Given the description of an element on the screen output the (x, y) to click on. 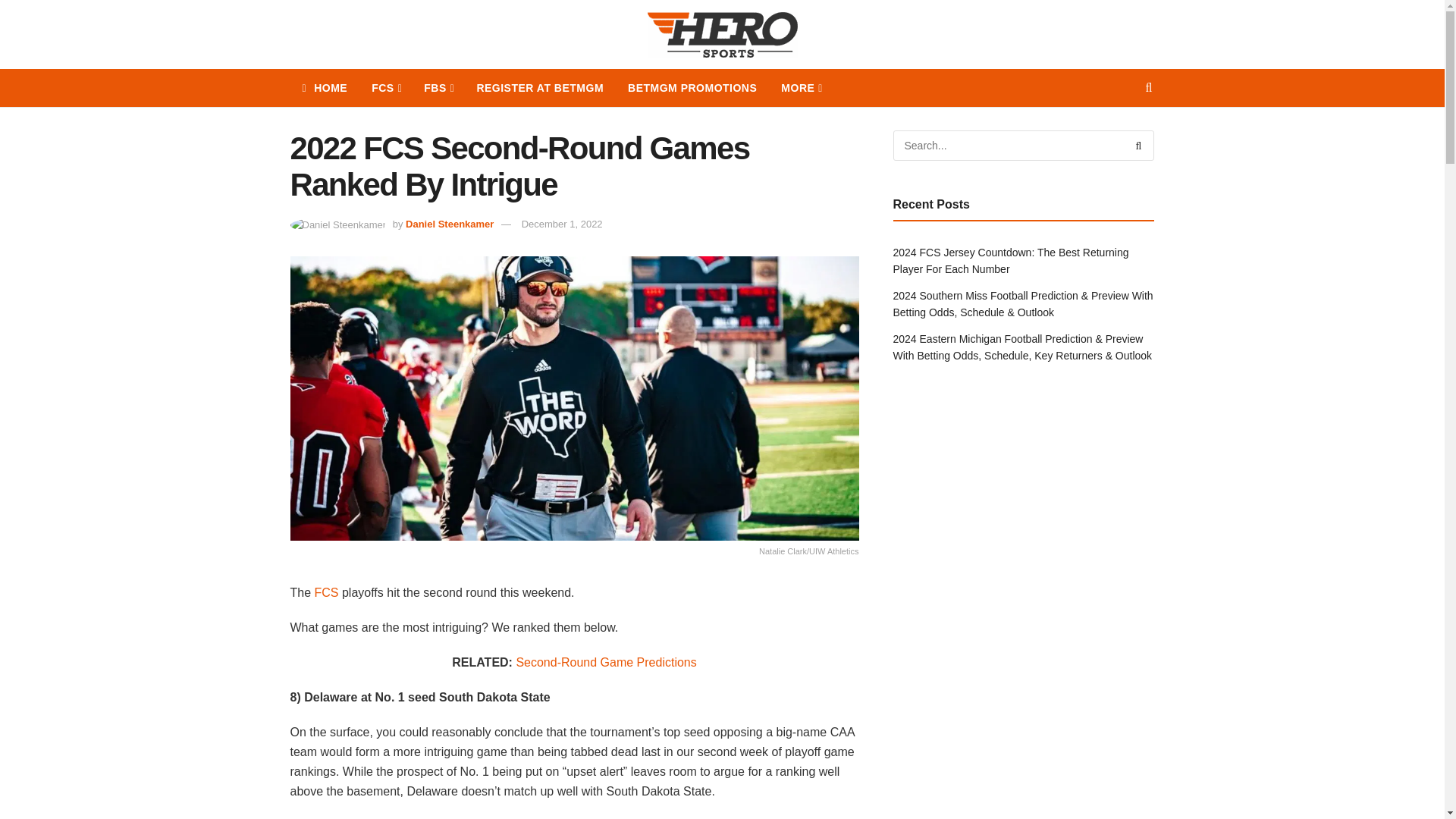
REGISTER AT BETMGM (539, 87)
FCS (385, 87)
BETMGM PROMOTIONS (691, 87)
FBS (438, 87)
MORE (800, 87)
HOME (324, 87)
